Given the description of an element on the screen output the (x, y) to click on. 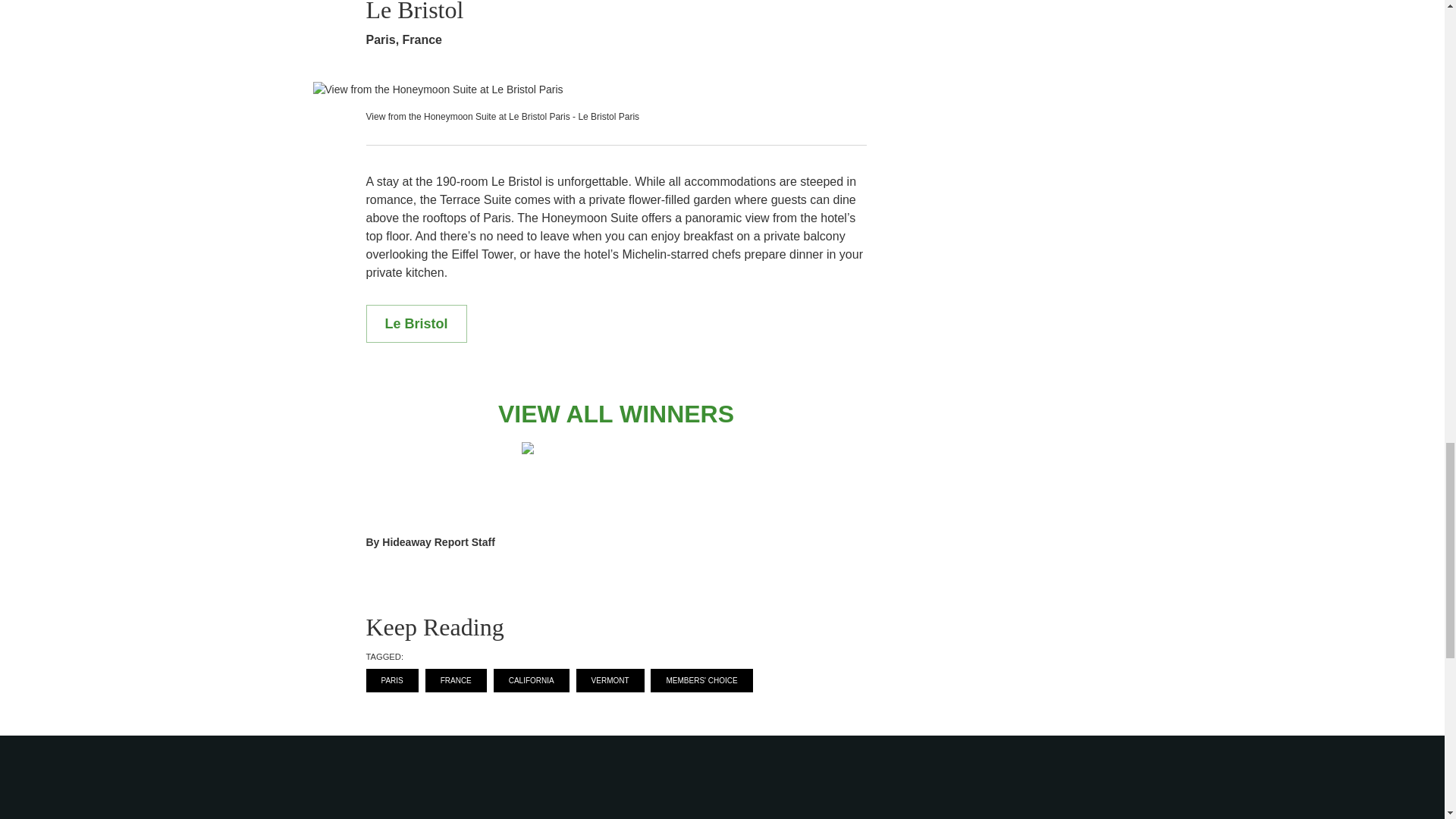
VERMONT (610, 680)
Le Bristol (415, 323)
FRANCE (455, 680)
PARIS (391, 680)
MEMBERS' CHOICE (701, 680)
CALIFORNIA (531, 680)
VIEW ALL WINNERS (615, 413)
